Given the description of an element on the screen output the (x, y) to click on. 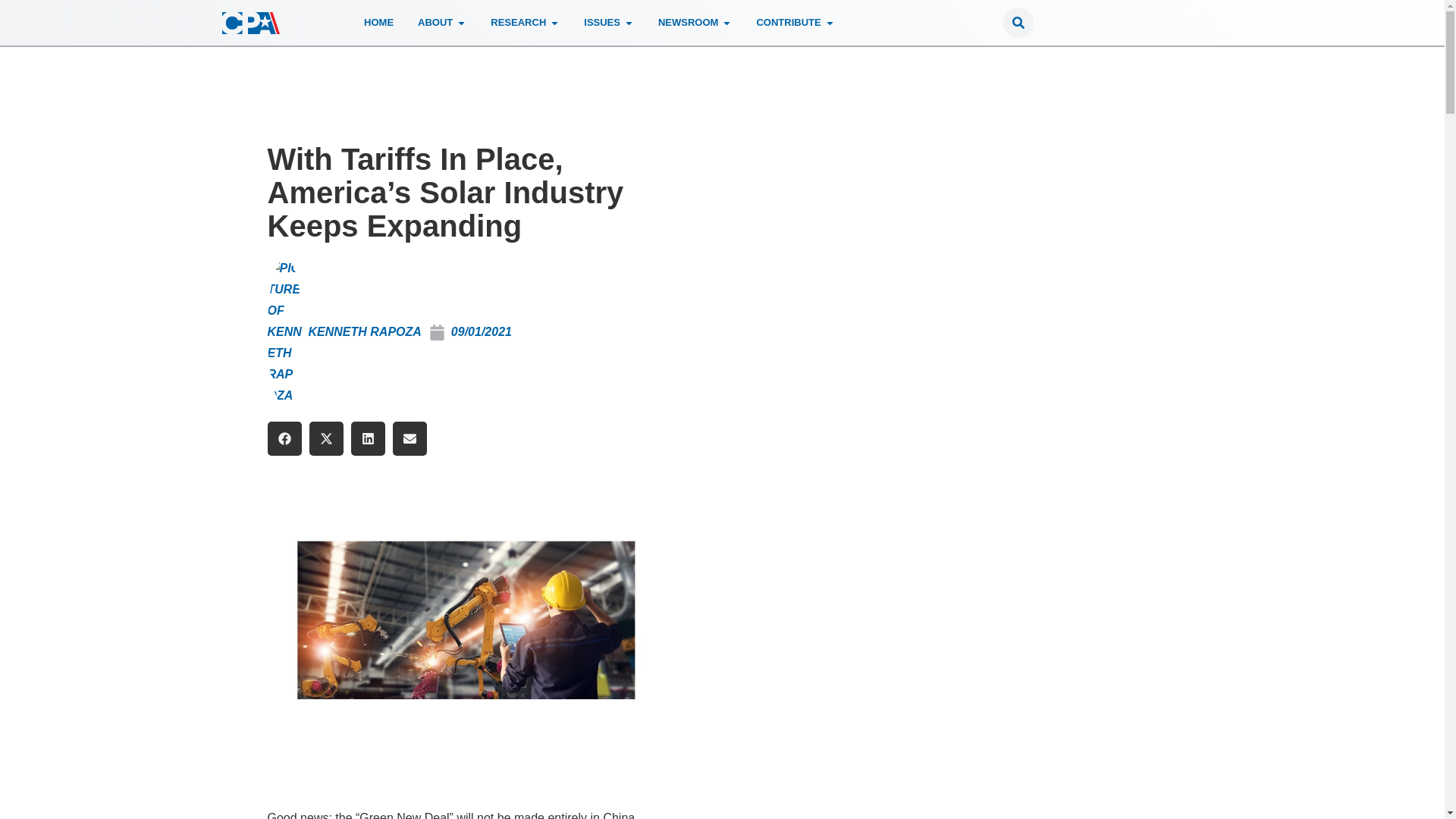
HOME (378, 22)
ABOUT (434, 22)
RESEARCH (518, 22)
